Given the description of an element on the screen output the (x, y) to click on. 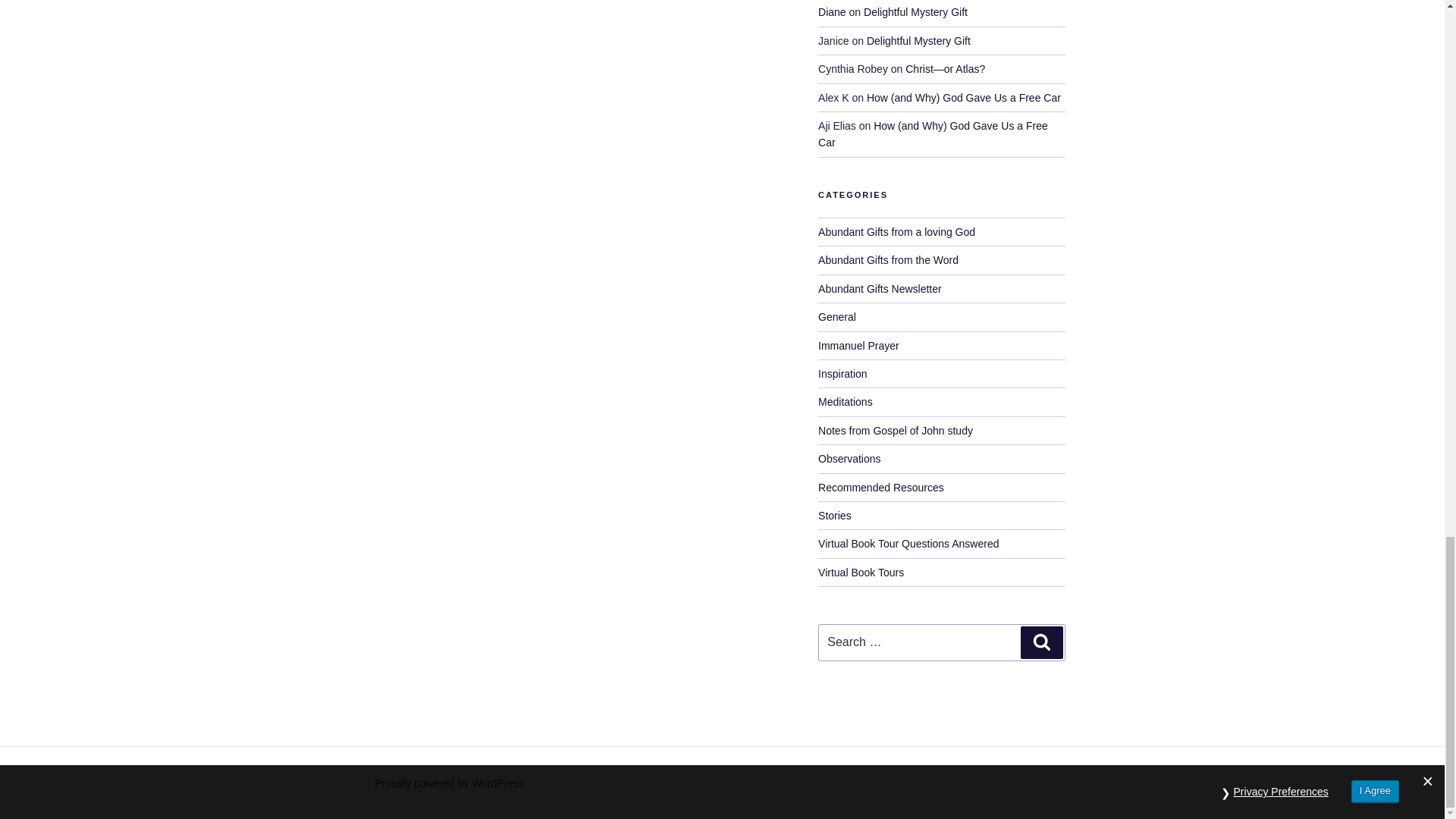
Delightful Mystery Gift (915, 11)
Diane (831, 11)
Abundant Gifts from a loving God (896, 232)
Abundant Gifts from the Word (888, 259)
Abundant Gifts Newsletter (880, 288)
Delightful Mystery Gift (918, 40)
